Given the description of an element on the screen output the (x, y) to click on. 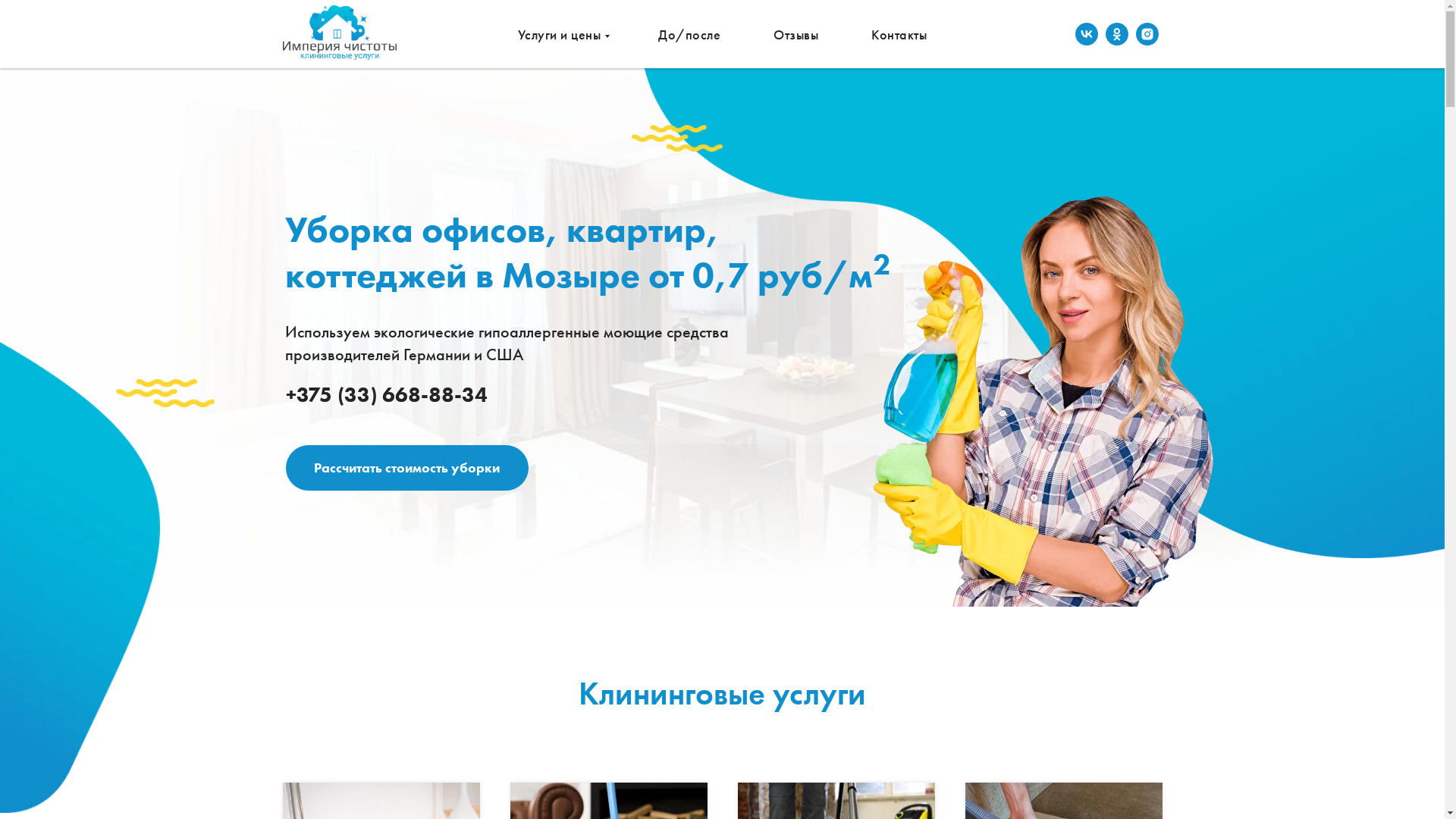
+375 (33) 668-88-34 Element type: text (385, 394)
